Given the description of an element on the screen output the (x, y) to click on. 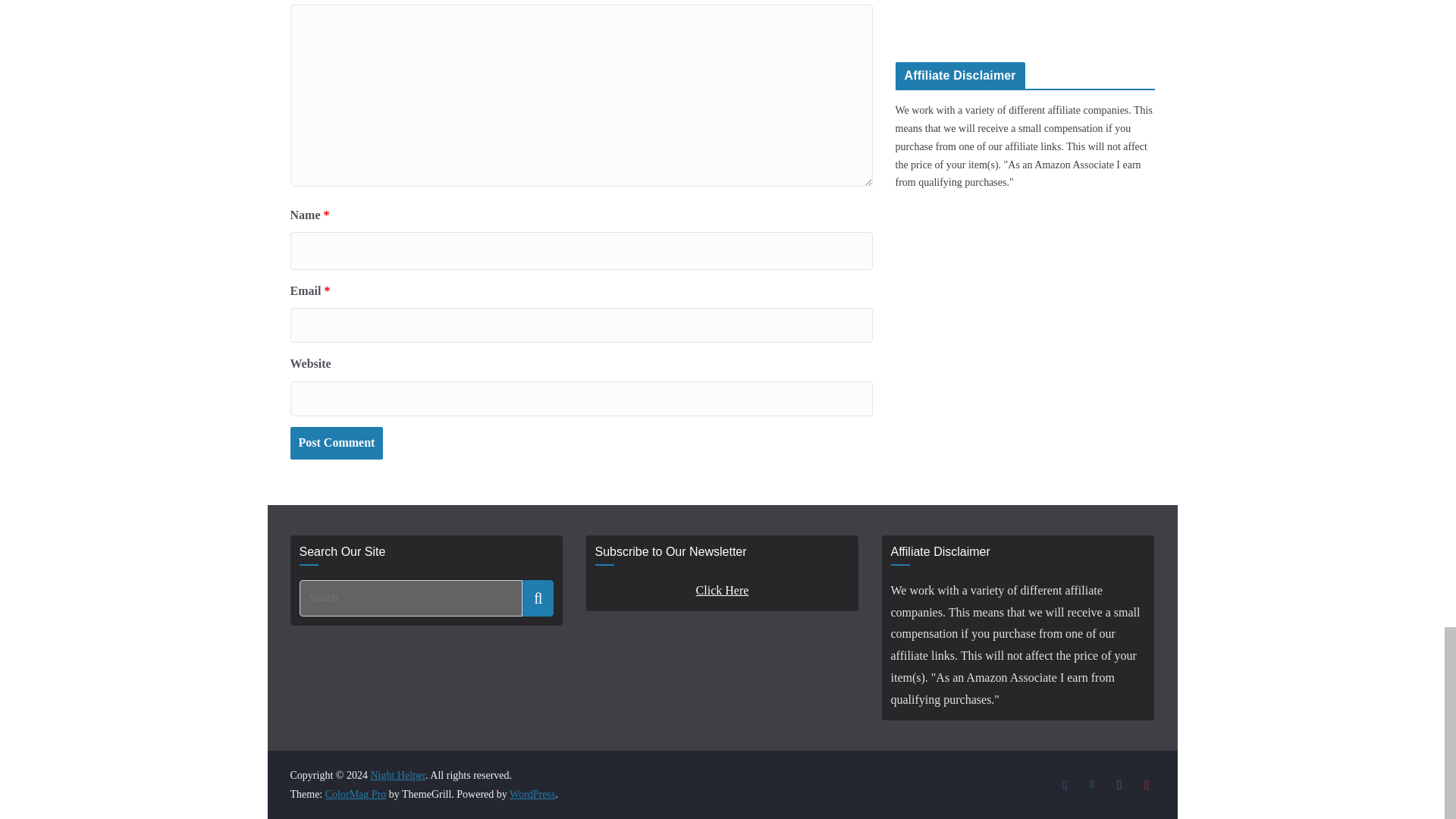
Post Comment (335, 442)
